Given the description of an element on the screen output the (x, y) to click on. 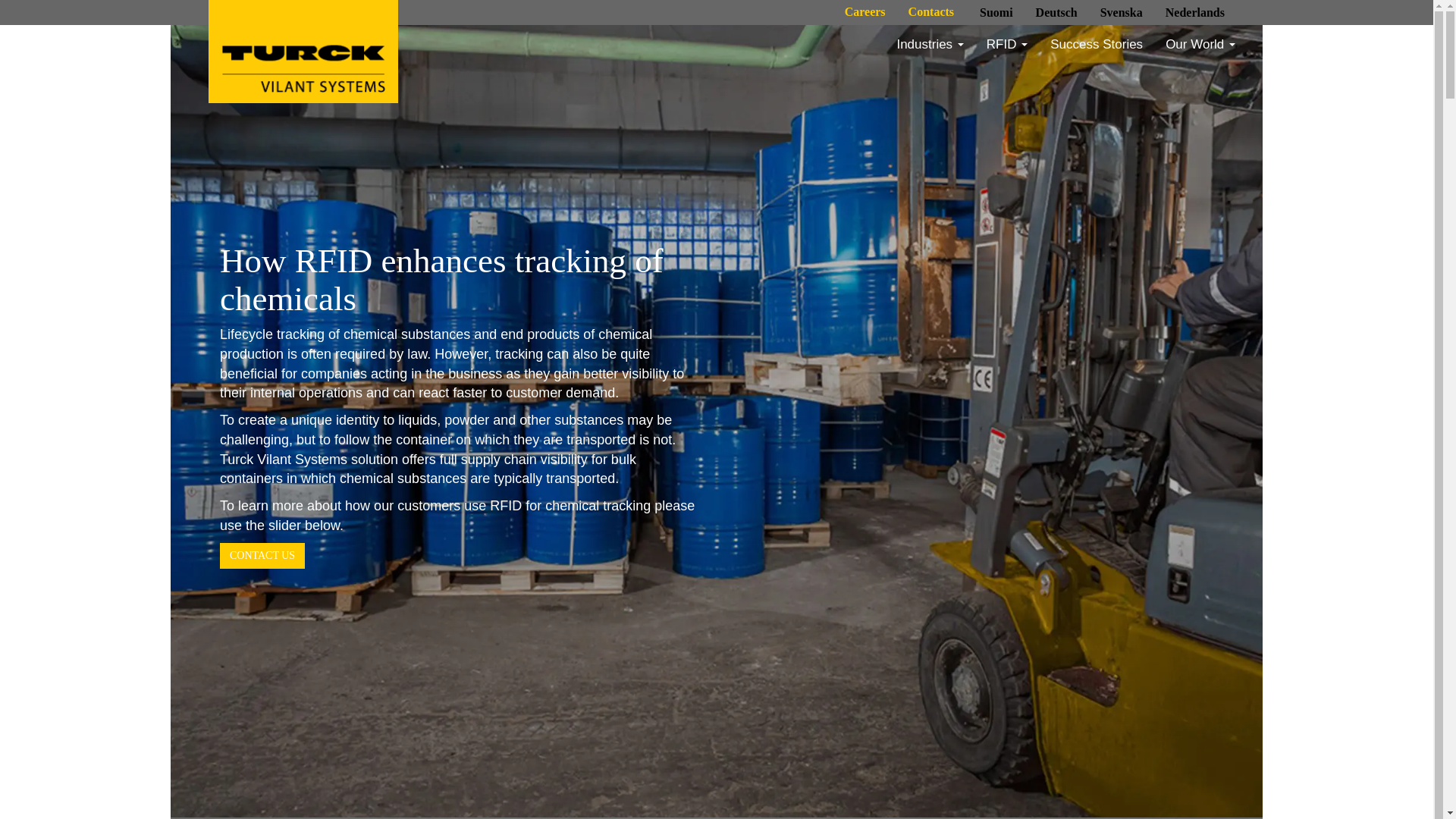
RFID (1007, 44)
Suomi (996, 11)
Deutsch (1056, 11)
CONTACT US (261, 555)
Success Stories (1096, 44)
Industries (929, 44)
Careers (864, 11)
Svenska (1121, 11)
Contacts (930, 11)
Nederlands (1195, 11)
